Given the description of an element on the screen output the (x, y) to click on. 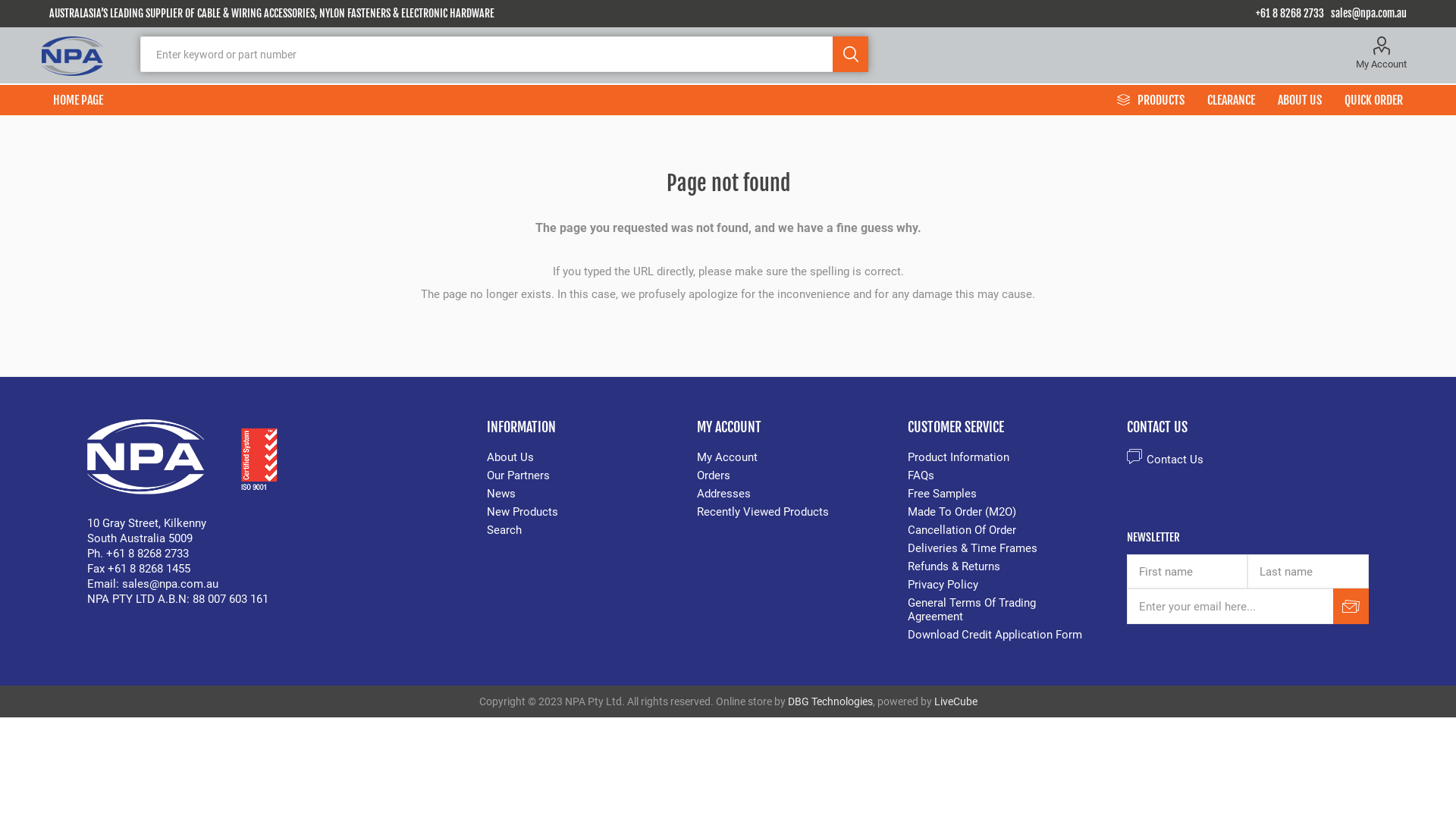
About Us Element type: text (509, 457)
Deliveries & Time Frames Element type: text (972, 548)
Product Information Element type: text (958, 457)
+61 8 8268 2733 Element type: text (1289, 12)
SEARCH Element type: text (850, 54)
HOME PAGE Element type: text (77, 99)
DBG Technologies Element type: text (829, 701)
Recently Viewed Products Element type: text (762, 511)
FAQs Element type: text (920, 475)
LiveCube Element type: text (955, 701)
ABOUT US Element type: text (1299, 99)
My Account Element type: text (726, 457)
Orders Element type: text (713, 475)
CLEARANCE Element type: text (1230, 99)
Cancellation Of Order Element type: text (961, 529)
Our Partners Element type: text (517, 475)
Search Element type: text (503, 529)
Refunds & Returns Element type: text (953, 566)
Made To Order (M2O) Element type: text (961, 511)
News Element type: text (500, 493)
Download Credit Application Form Element type: text (994, 634)
SUBSCRIBE Element type: text (1350, 606)
New Products Element type: text (522, 511)
General Terms Of Trading Agreement Element type: text (971, 609)
Addresses Element type: text (723, 493)
My Account Element type: text (1380, 52)
Free Samples Element type: text (941, 493)
NPA Pty Ltd Element type: hover (72, 55)
Privacy Policy Element type: text (942, 584)
QUICK ORDER Element type: text (1373, 99)
Contact Us Element type: text (1164, 459)
sales@npa.com.au Element type: text (1368, 12)
